Given the description of an element on the screen output the (x, y) to click on. 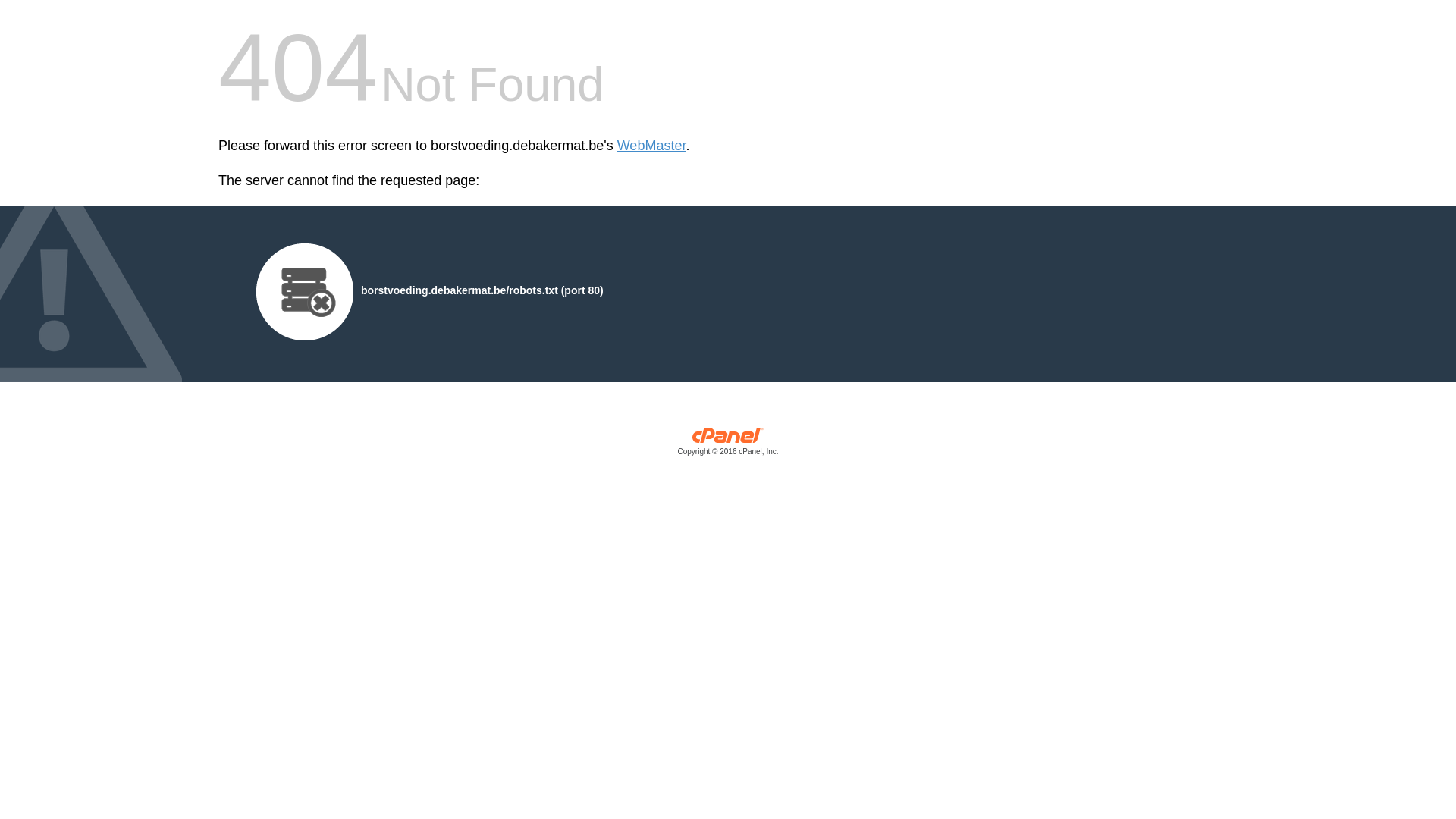
WebMaster Element type: text (651, 145)
